Given the description of an element on the screen output the (x, y) to click on. 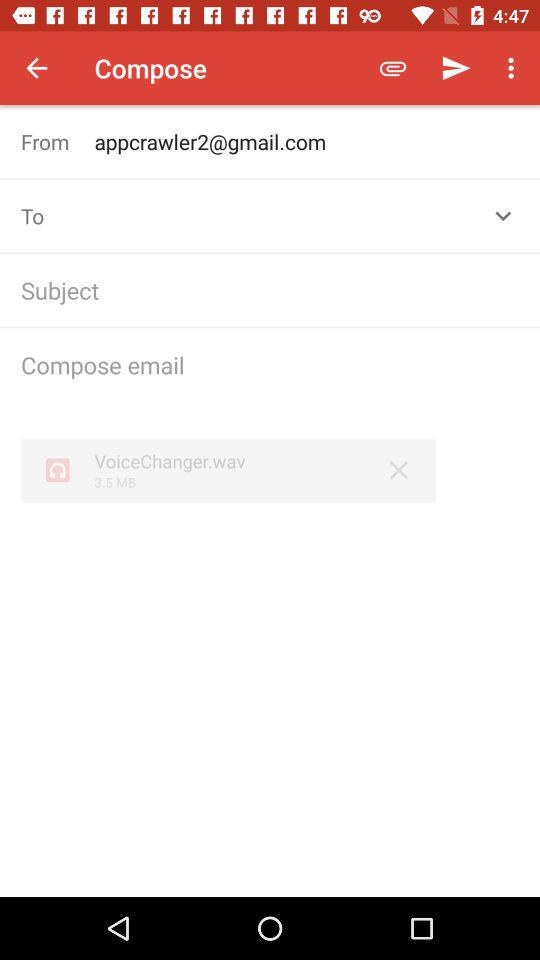
turn on the icon to the right of compose item (392, 67)
